Given the description of an element on the screen output the (x, y) to click on. 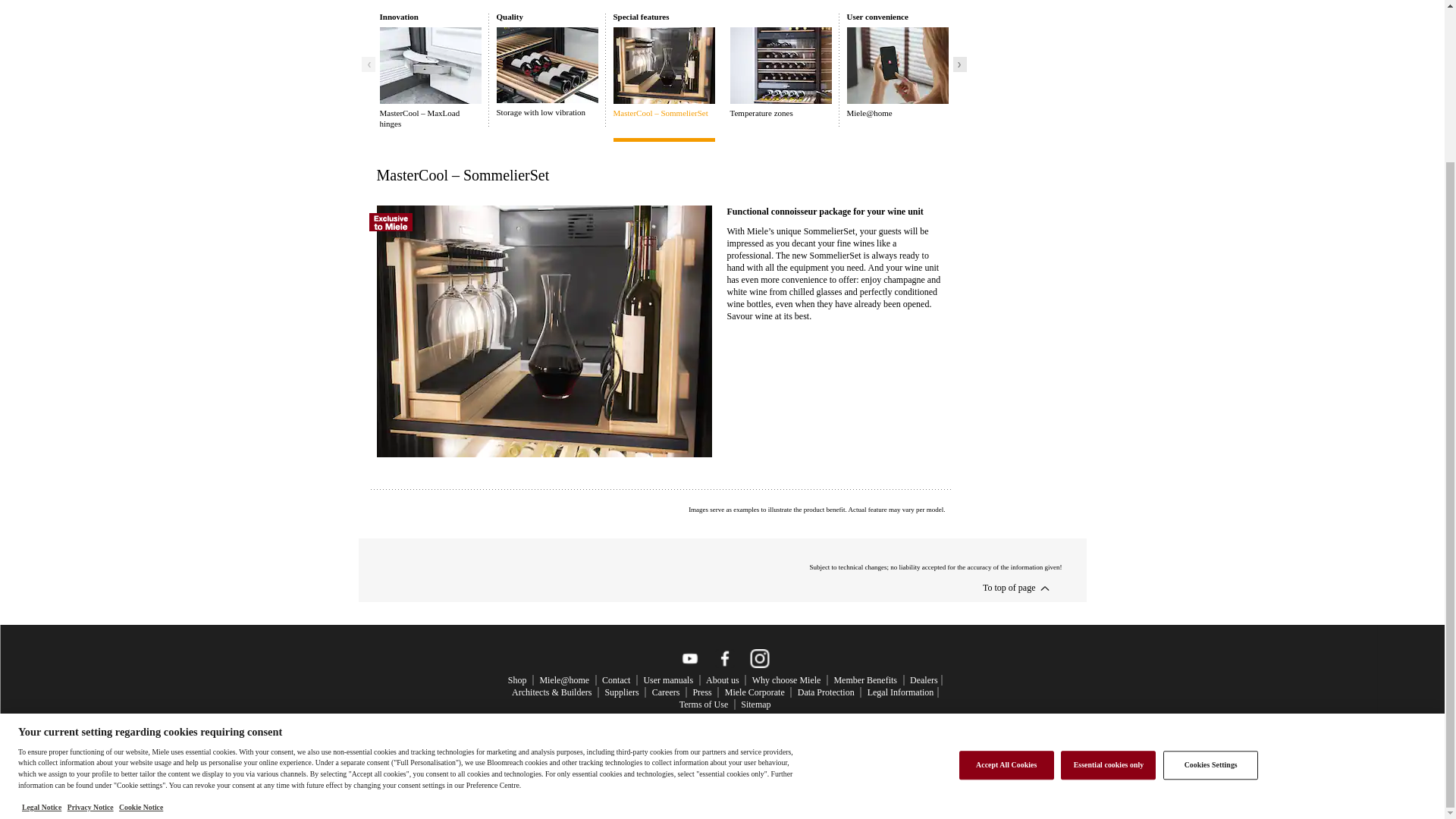
To top of page (1008, 587)
Shop (517, 679)
Contact (616, 679)
Temperature zones (780, 72)
Storage with low vibration (546, 72)
